Given the description of an element on the screen output the (x, y) to click on. 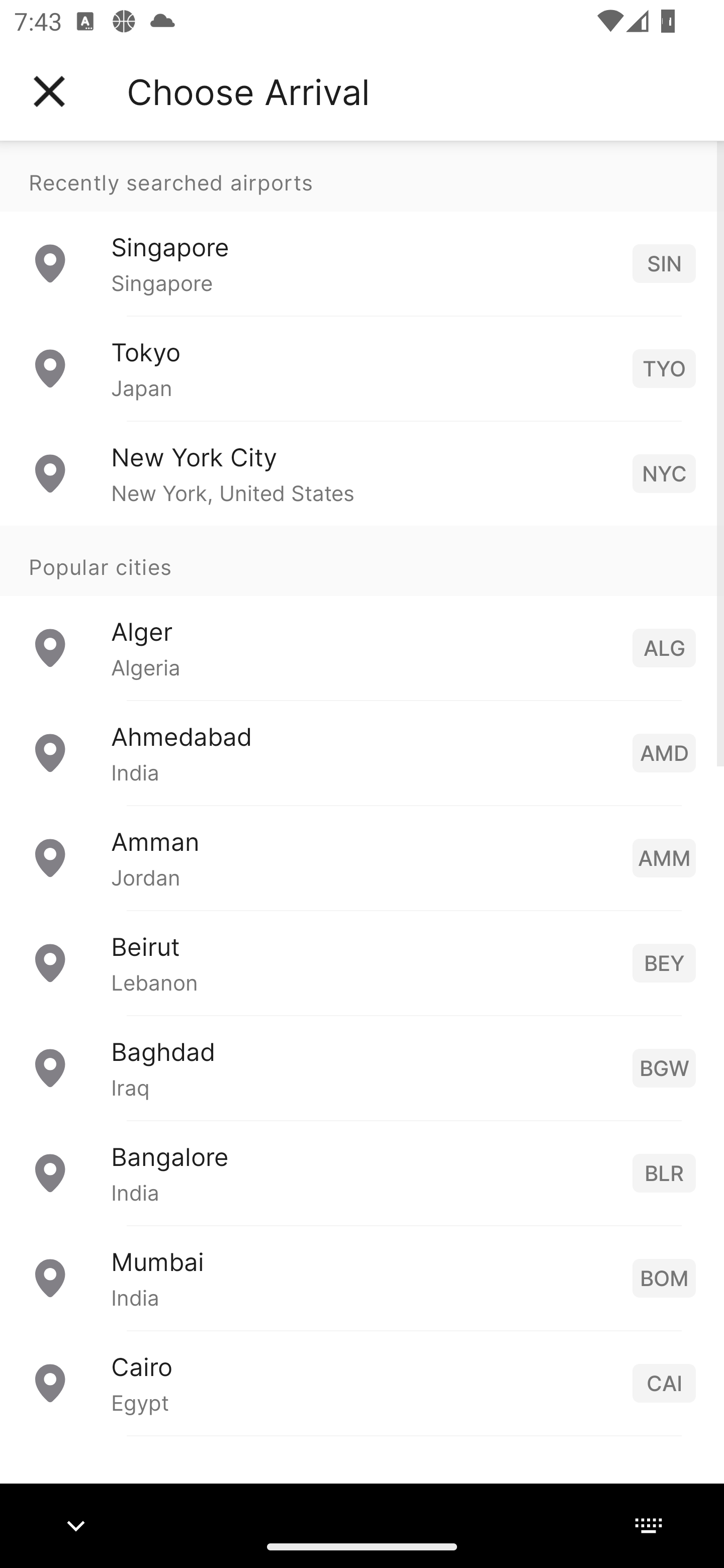
Choose Arrival (247, 91)
Recently searched airports Singapore Singapore SIN (362, 228)
Recently searched airports (362, 176)
Tokyo Japan TYO (362, 367)
New York City New York, United States NYC (362, 472)
Popular cities Alger Algeria ALG (362, 612)
Popular cities (362, 560)
Ahmedabad India AMD (362, 751)
Amman Jordan AMM (362, 856)
Beirut Lebanon BEY (362, 961)
Baghdad Iraq BGW (362, 1066)
Bangalore India BLR (362, 1171)
Mumbai India BOM (362, 1276)
Cairo Egypt CAI (362, 1381)
